Given the description of an element on the screen output the (x, y) to click on. 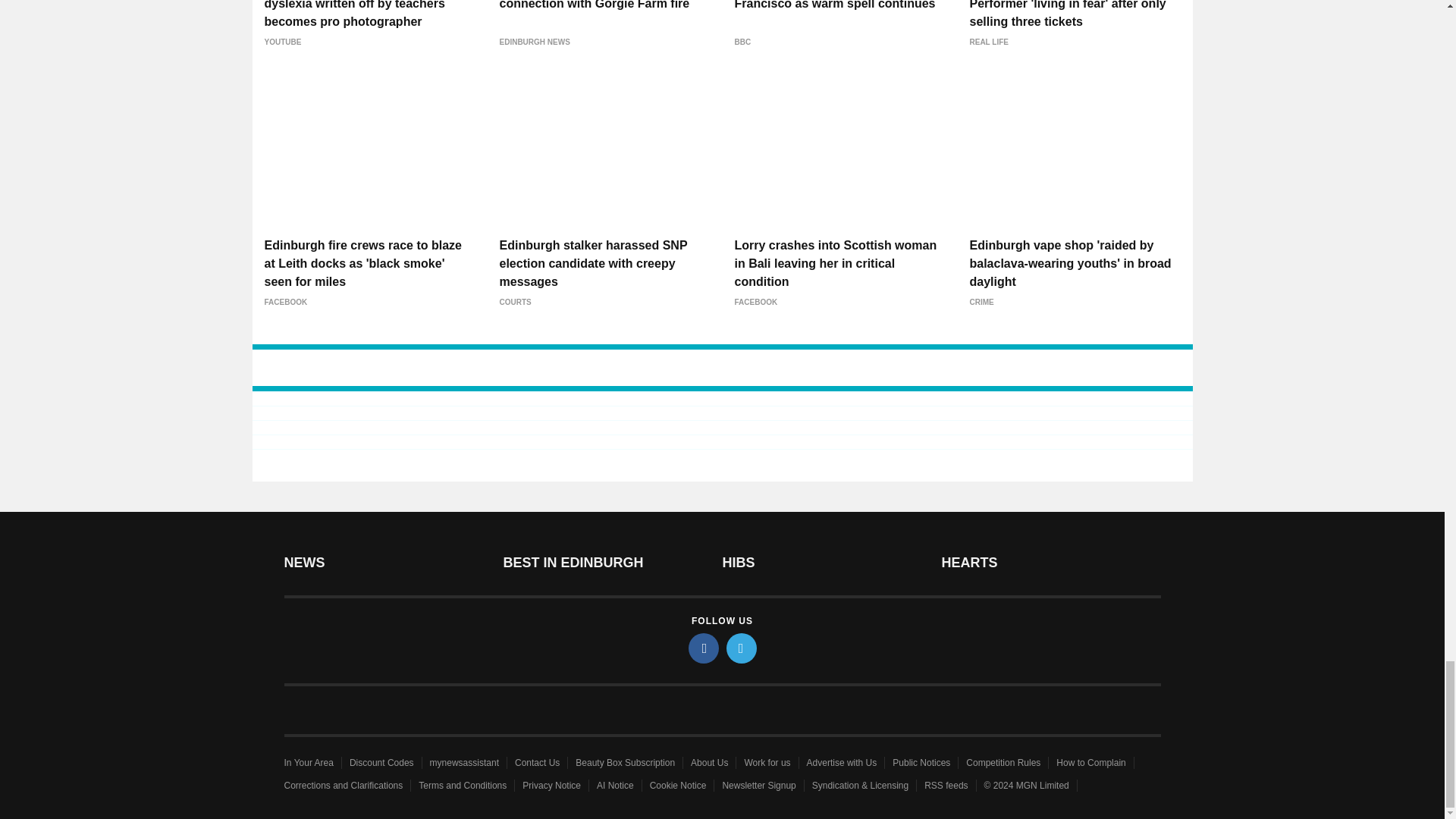
facebook (703, 648)
twitter (741, 648)
